Given the description of an element on the screen output the (x, y) to click on. 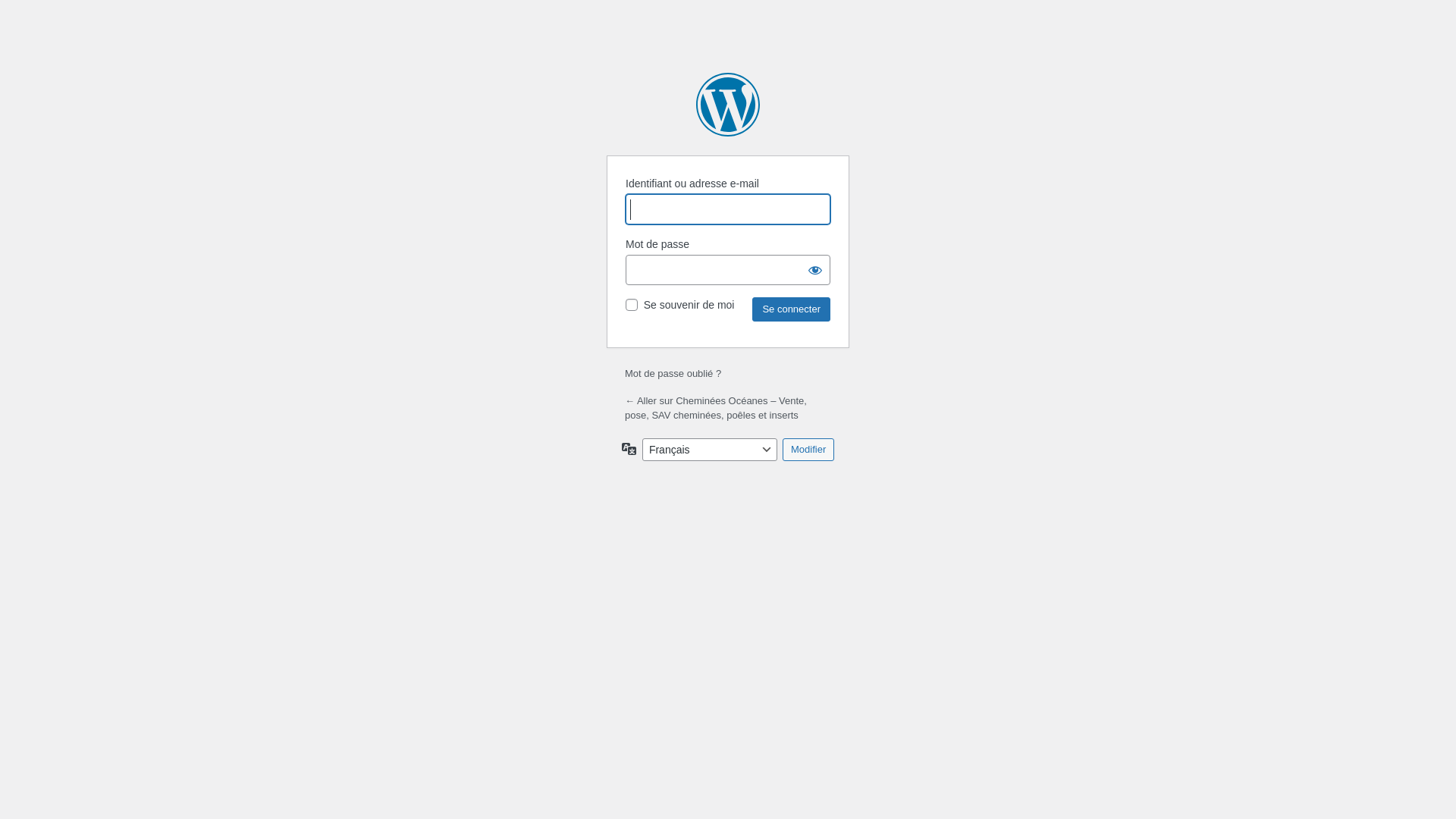
Se connecter Element type: text (791, 309)
Modifier Element type: text (808, 449)
